Given the description of an element on the screen output the (x, y) to click on. 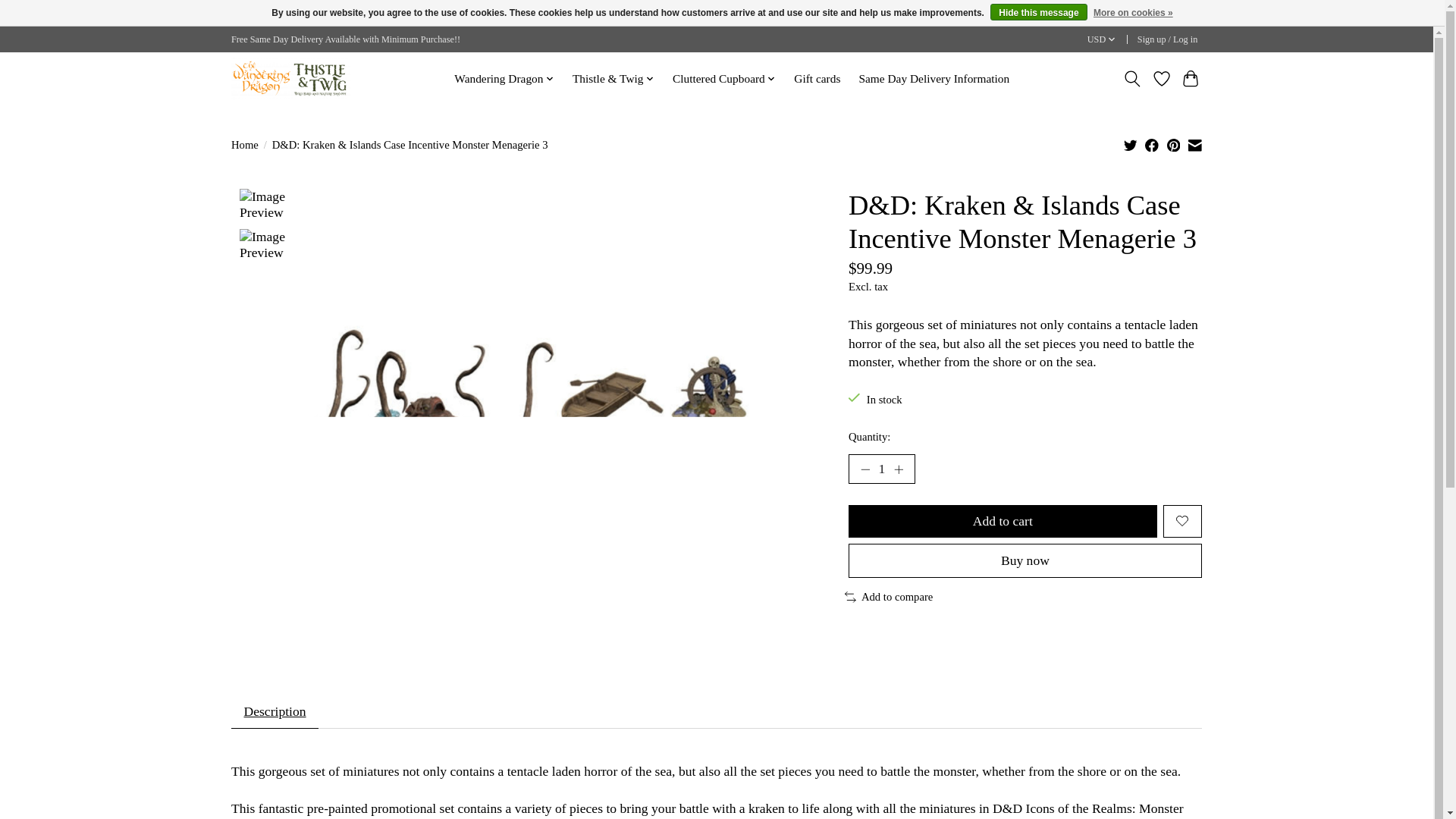
My account (1167, 39)
1 (881, 469)
Wandering Dragon (503, 78)
USD (1102, 39)
